Given the description of an element on the screen output the (x, y) to click on. 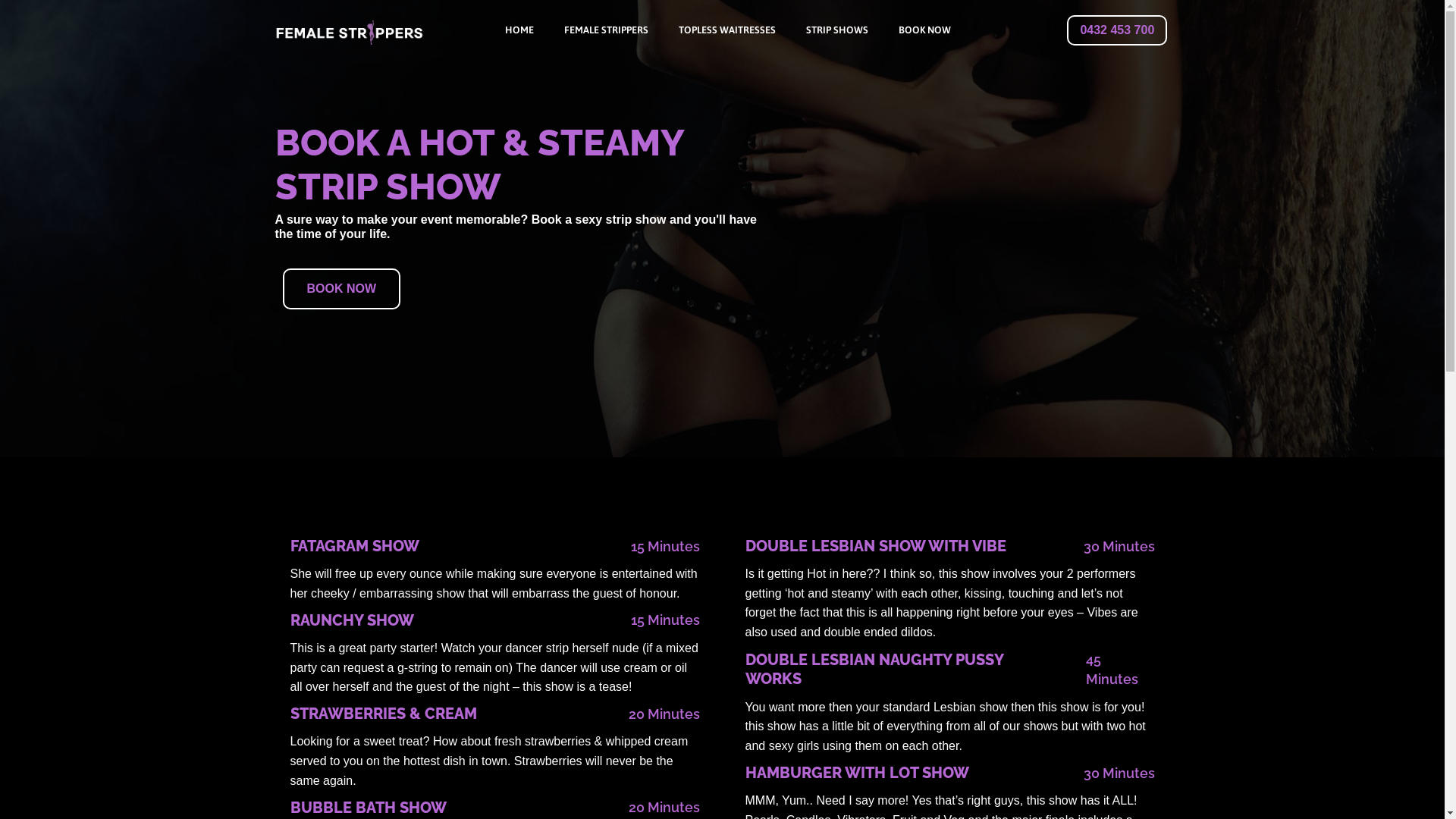
RAUNCHY SHOW Element type: text (351, 620)
DOUBLE LESBIAN SHOW WITH VIBE Element type: text (874, 546)
0432 453 700 Element type: text (1116, 30)
HOME Element type: text (519, 29)
BUBBLE BATH SHOW Element type: text (367, 808)
BOOK NOW Element type: text (341, 288)
FEMALE STRIPPERS Element type: text (606, 29)
BOOK NOW Element type: text (924, 29)
FATAGRAM SHOW Element type: text (353, 546)
HAMBURGER WITH LOT SHOW Element type: text (856, 773)
TOPLESS WAITRESSES Element type: text (726, 29)
STRIP SHOWS Element type: text (836, 29)
DOUBLE LESBIAN NAUGHTY PUSSY WORKS Element type: text (899, 669)
STRAWBERRIES & CREAM Element type: text (382, 714)
